Given the description of an element on the screen output the (x, y) to click on. 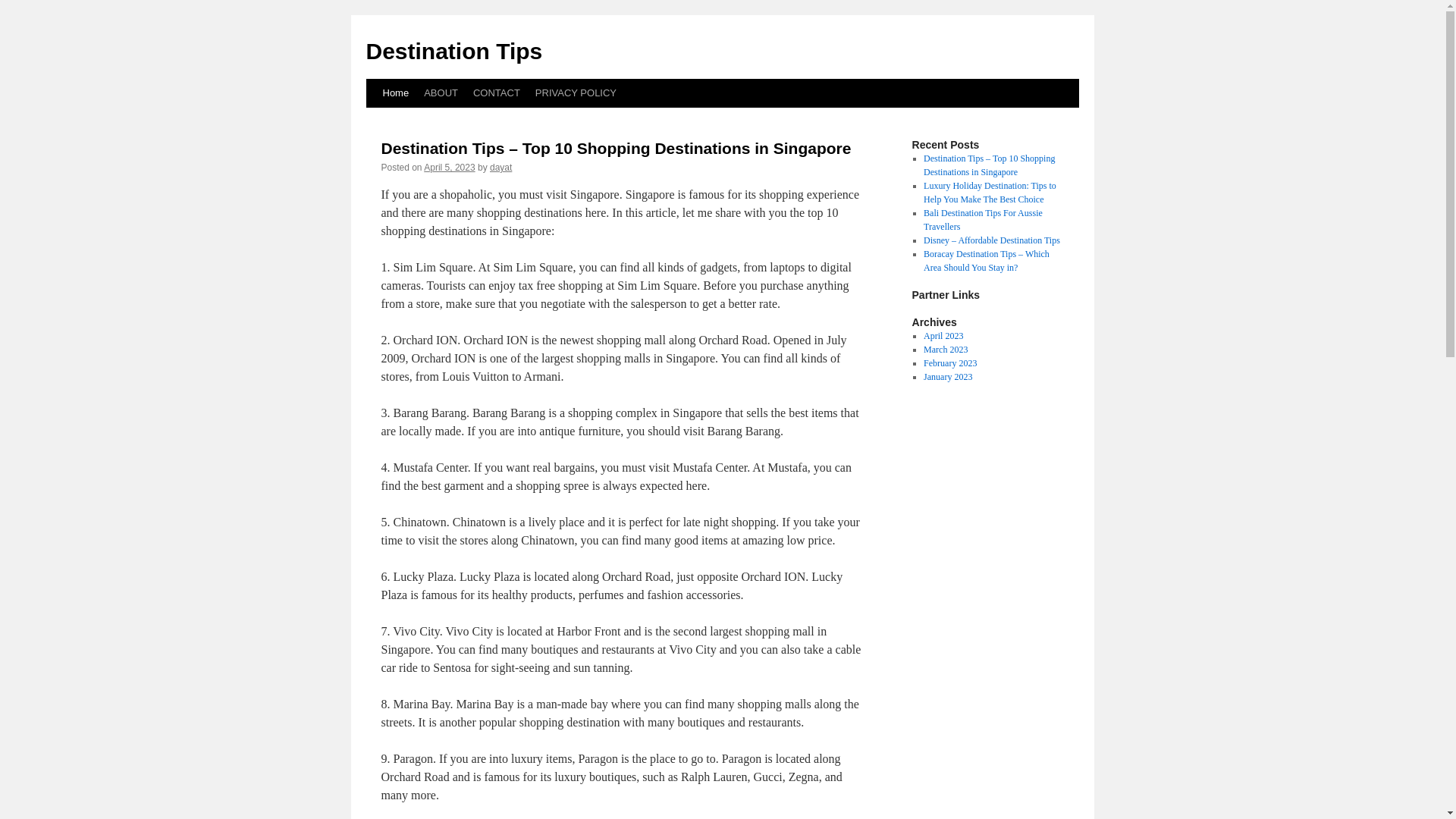
CONTACT (496, 92)
January 2023 (947, 376)
dayat (500, 167)
April 2023 (942, 335)
ABOUT (440, 92)
Home (395, 92)
Destination Tips (453, 50)
Bali Destination Tips For Aussie Travellers (982, 219)
Home (395, 92)
